Given the description of an element on the screen output the (x, y) to click on. 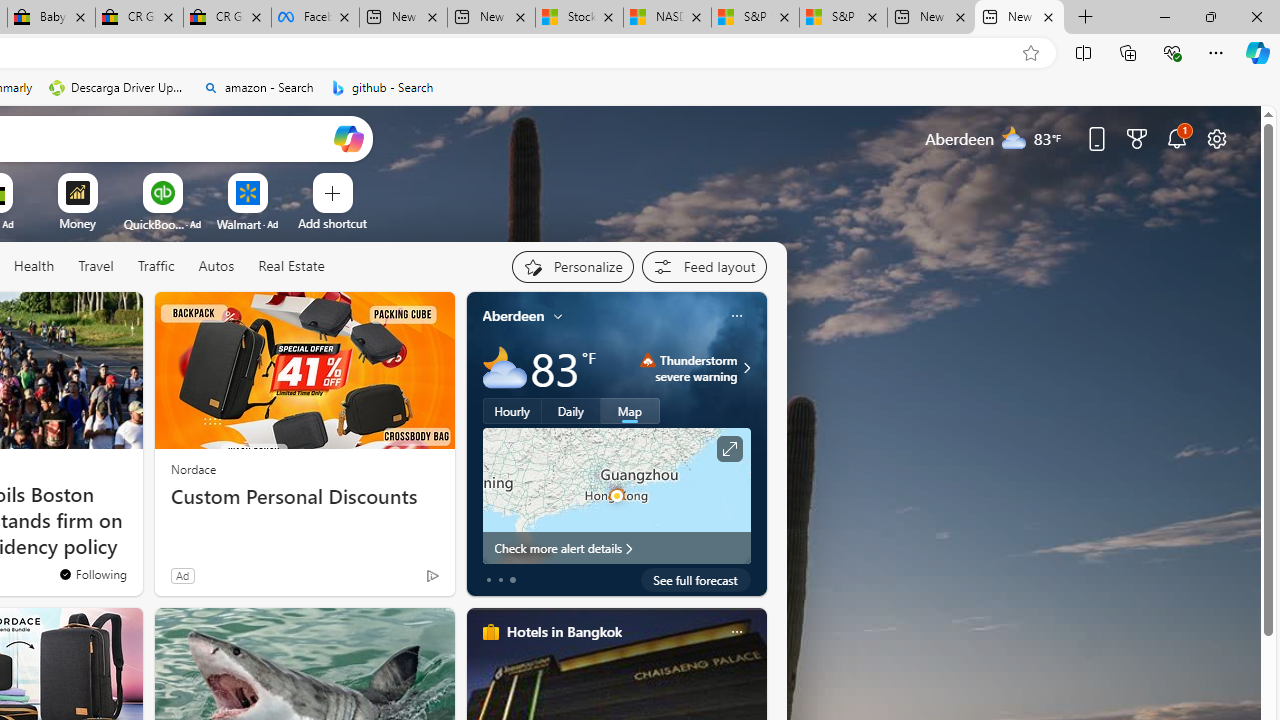
Class: icon-img (736, 632)
Aberdeen (513, 315)
tab-0 (488, 579)
Money (77, 223)
See full forecast (695, 579)
Click to see more information (728, 449)
Travel (95, 267)
Real Estate (291, 265)
You're following FOX News (92, 573)
